Given the description of an element on the screen output the (x, y) to click on. 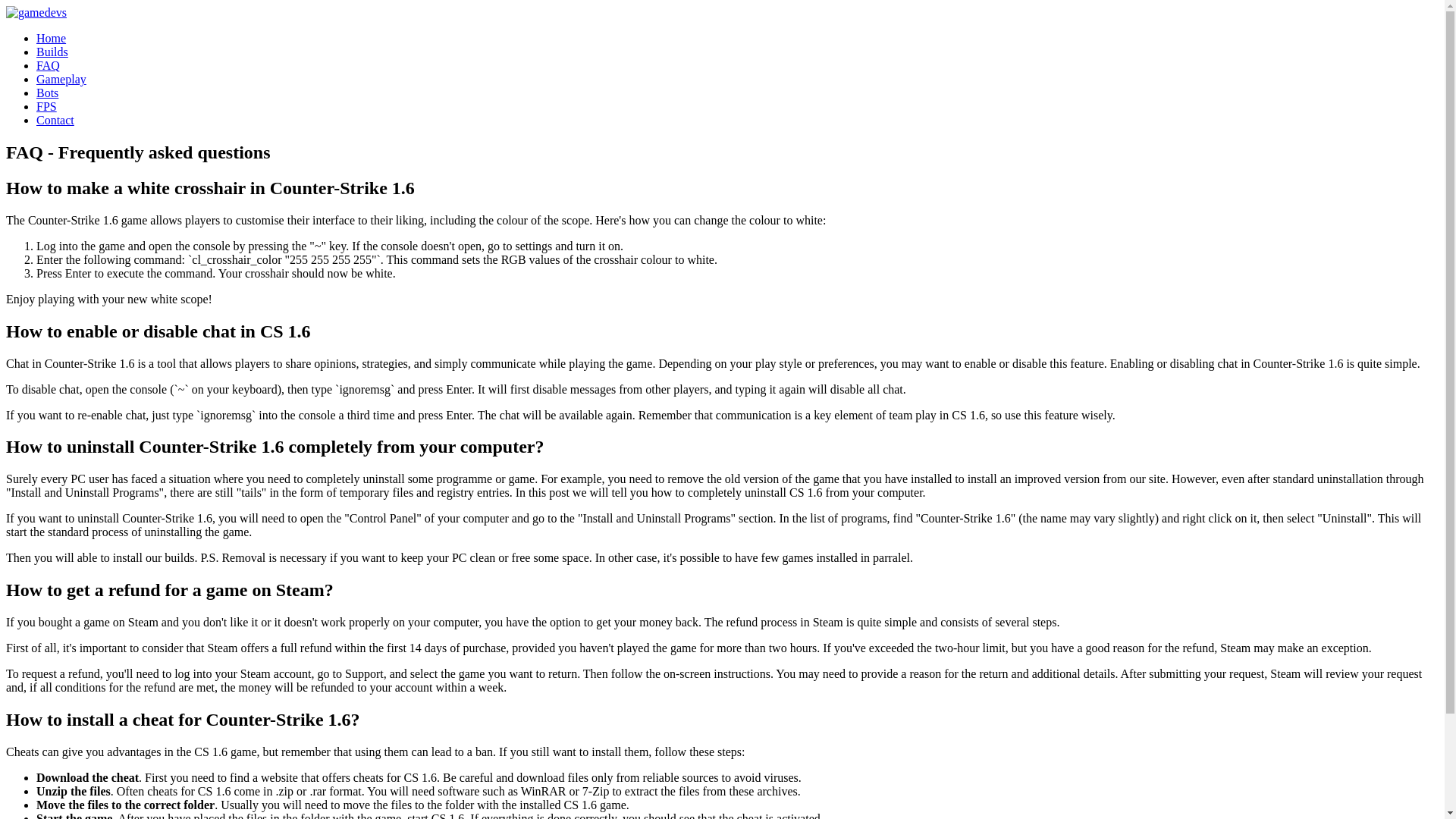
Builds (52, 51)
Bots (47, 92)
Gameplay (60, 78)
Contact (55, 119)
FPS (46, 106)
Home (50, 38)
FAQ (47, 65)
